Given the description of an element on the screen output the (x, y) to click on. 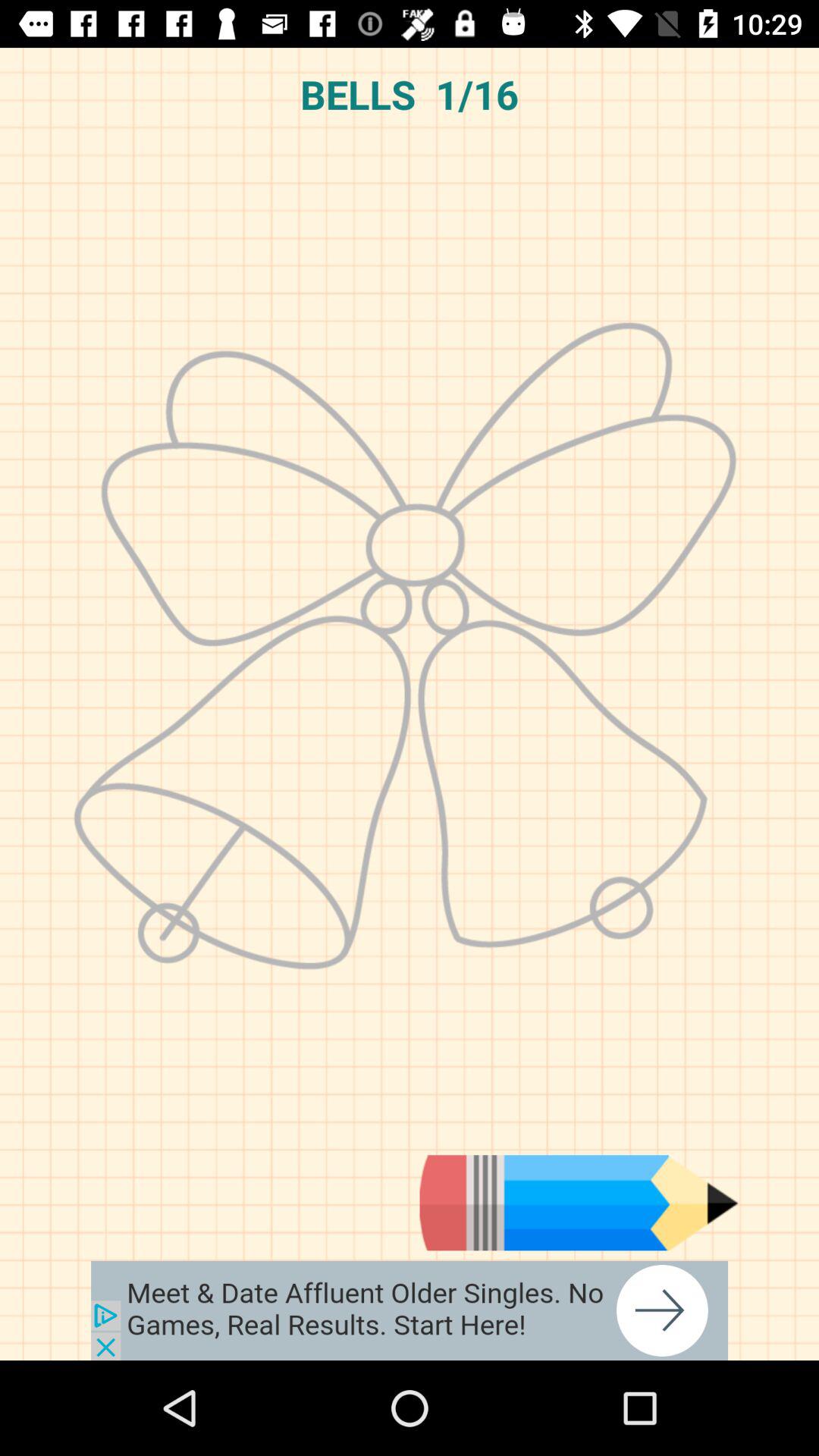
go to next (578, 1202)
